Given the description of an element on the screen output the (x, y) to click on. 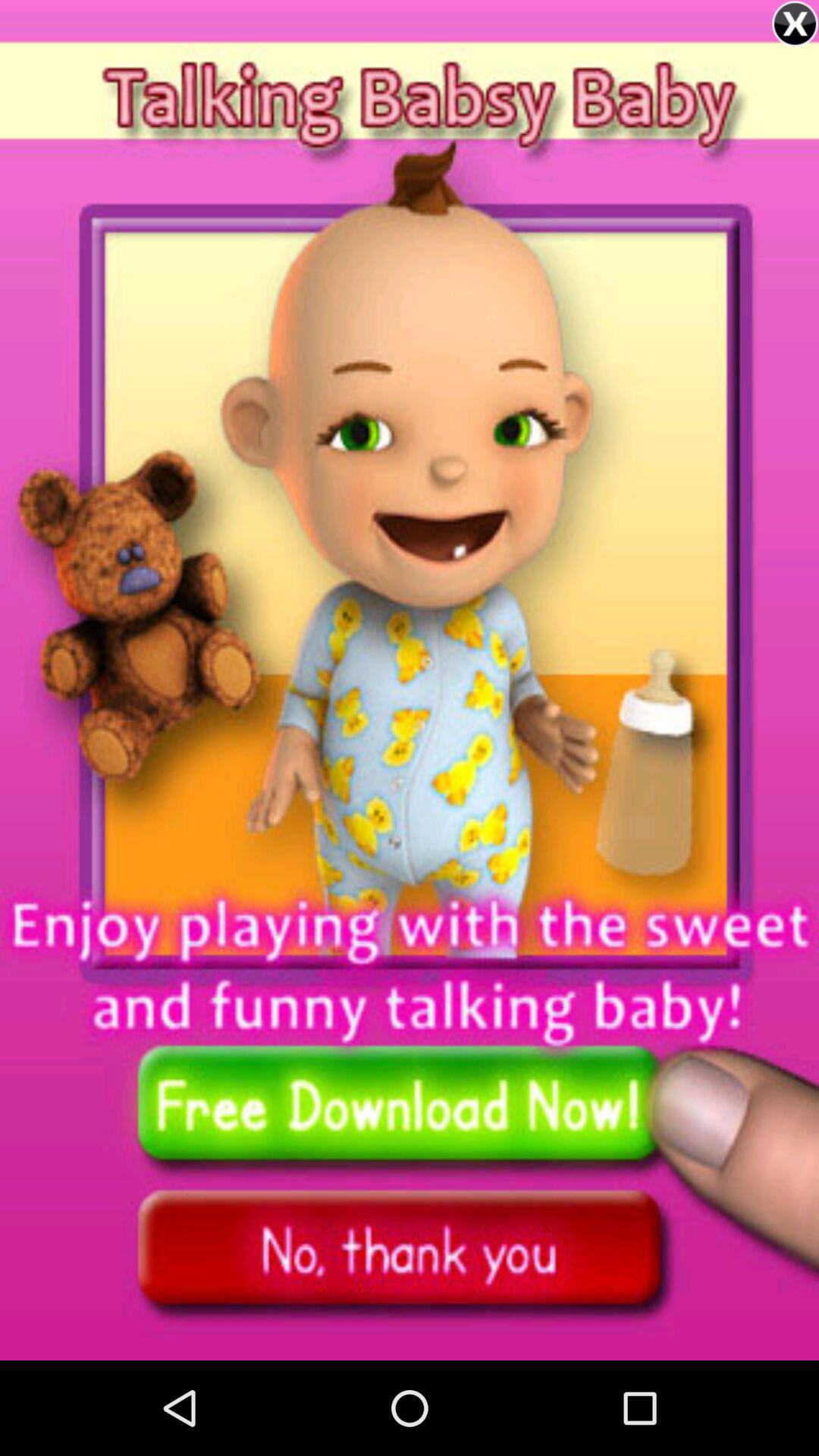
close the screen (795, 23)
